Given the description of an element on the screen output the (x, y) to click on. 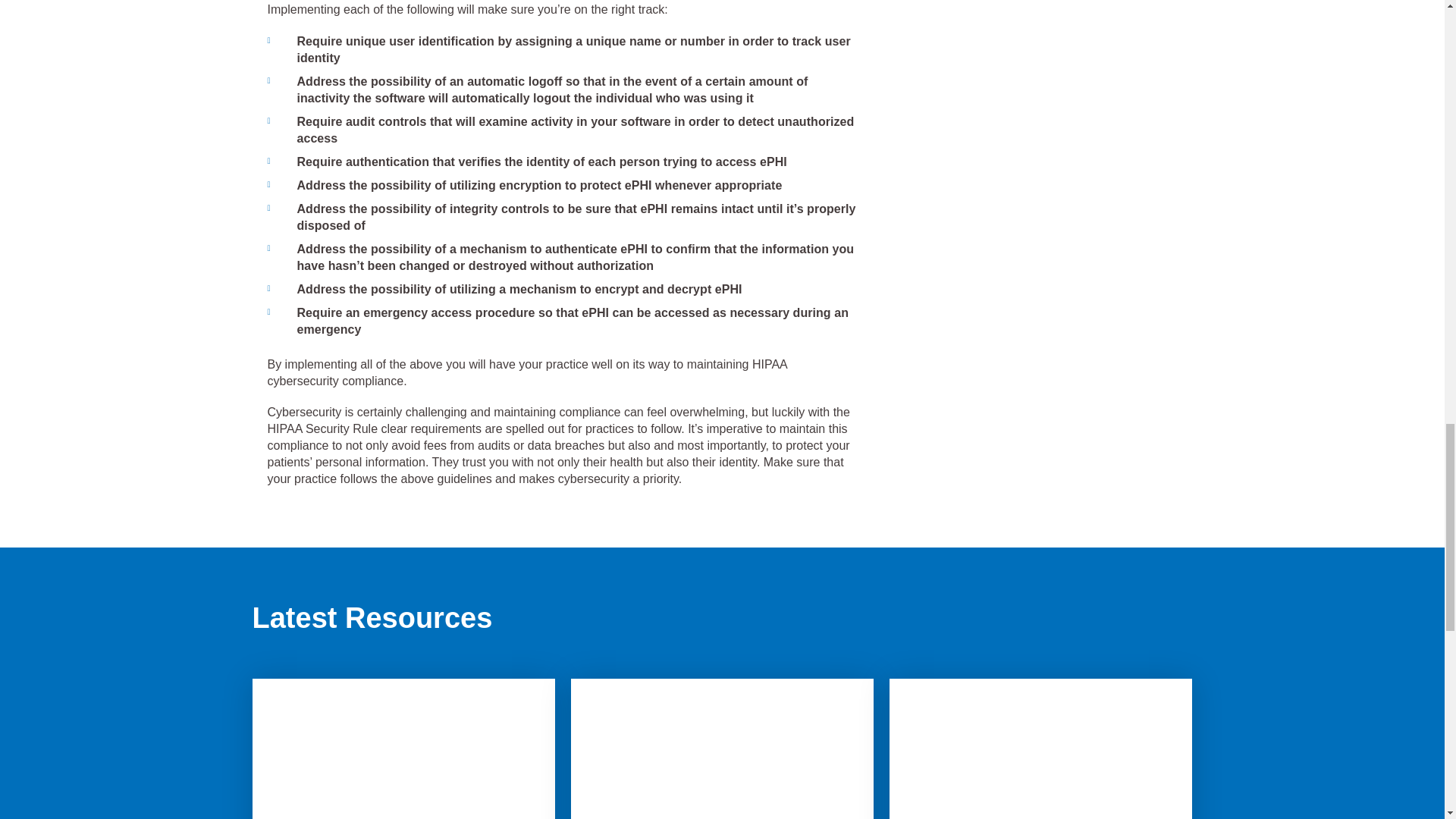
4 Best RCM Solutions to Keep Your Revenue Flowing (722, 748)
Prime Care: How Amazon is Getting Involved in Healthcare (1040, 748)
A Guide to Data Management in Healthcare (402, 748)
